Given the description of an element on the screen output the (x, y) to click on. 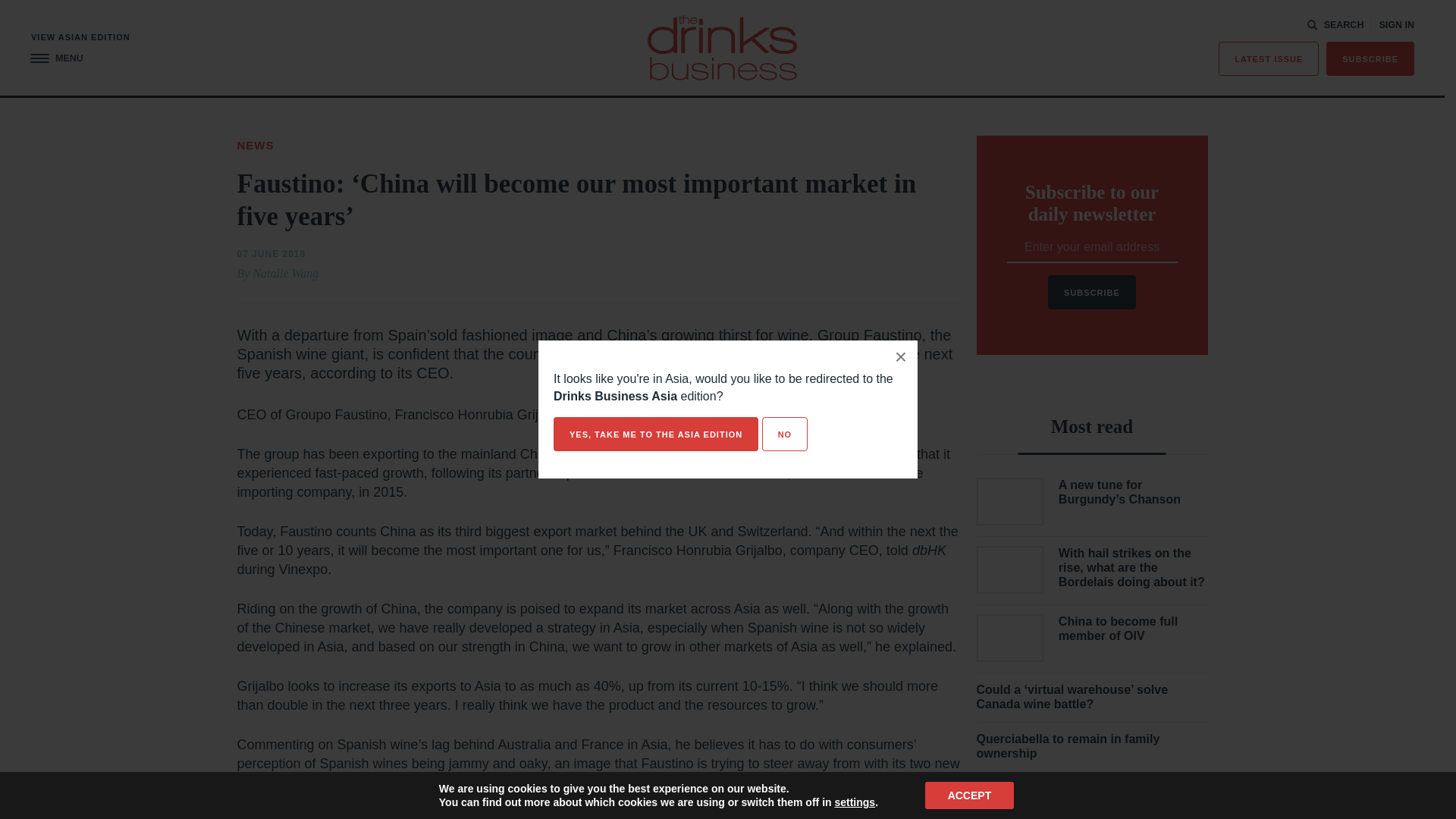
MENU (56, 58)
NO (784, 433)
SEARCH (1334, 24)
VIEW ASIAN EDITION (80, 37)
SIGN IN (1395, 25)
The Drinks Business (721, 47)
LATEST ISSUE (1268, 58)
YES, TAKE ME TO THE ASIA EDITION (655, 433)
SUBSCRIBE (1369, 58)
